Given the description of an element on the screen output the (x, y) to click on. 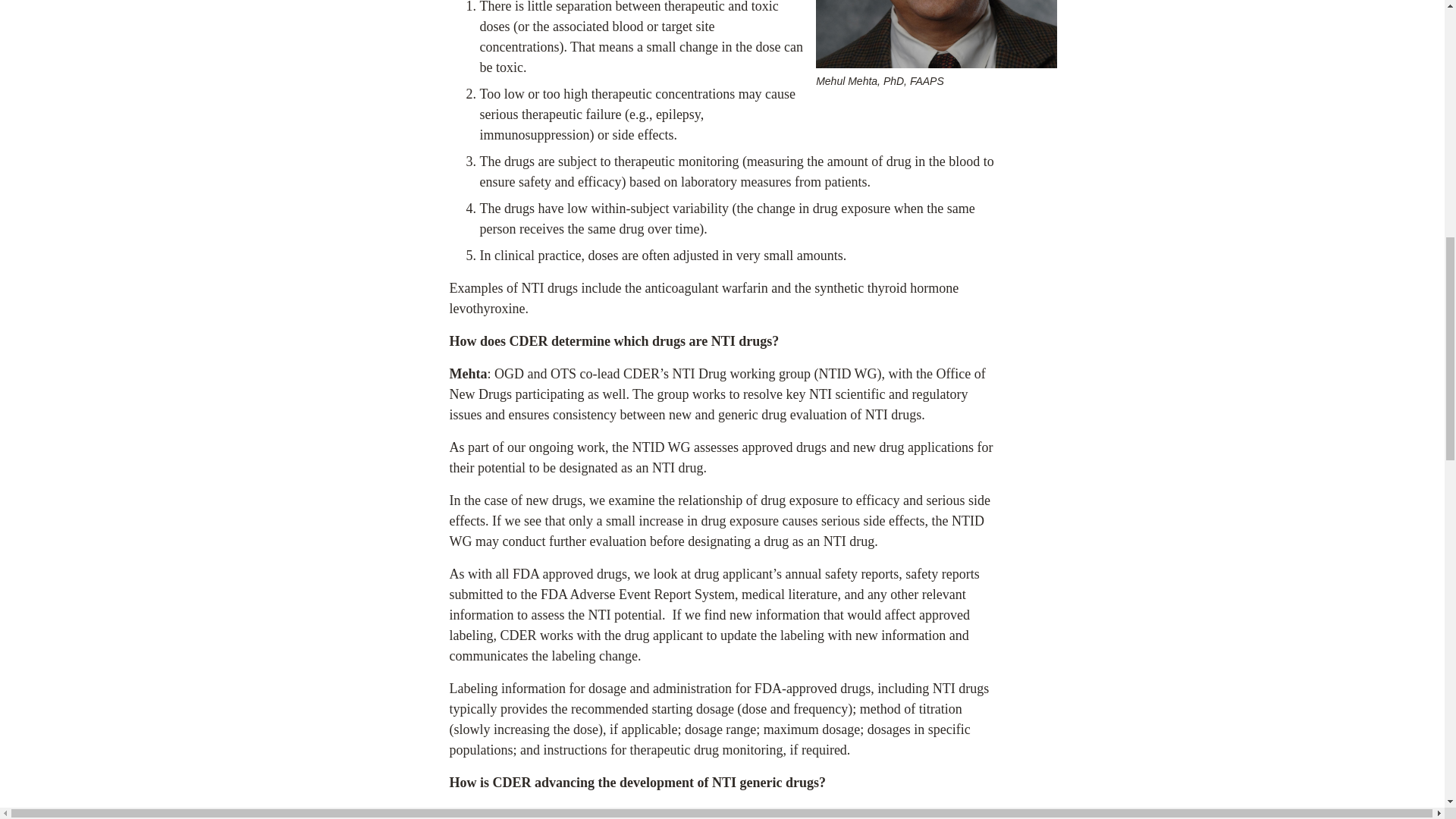
Mehul Mehta, PhD, FAAPS Headshot (936, 33)
